Given the description of an element on the screen output the (x, y) to click on. 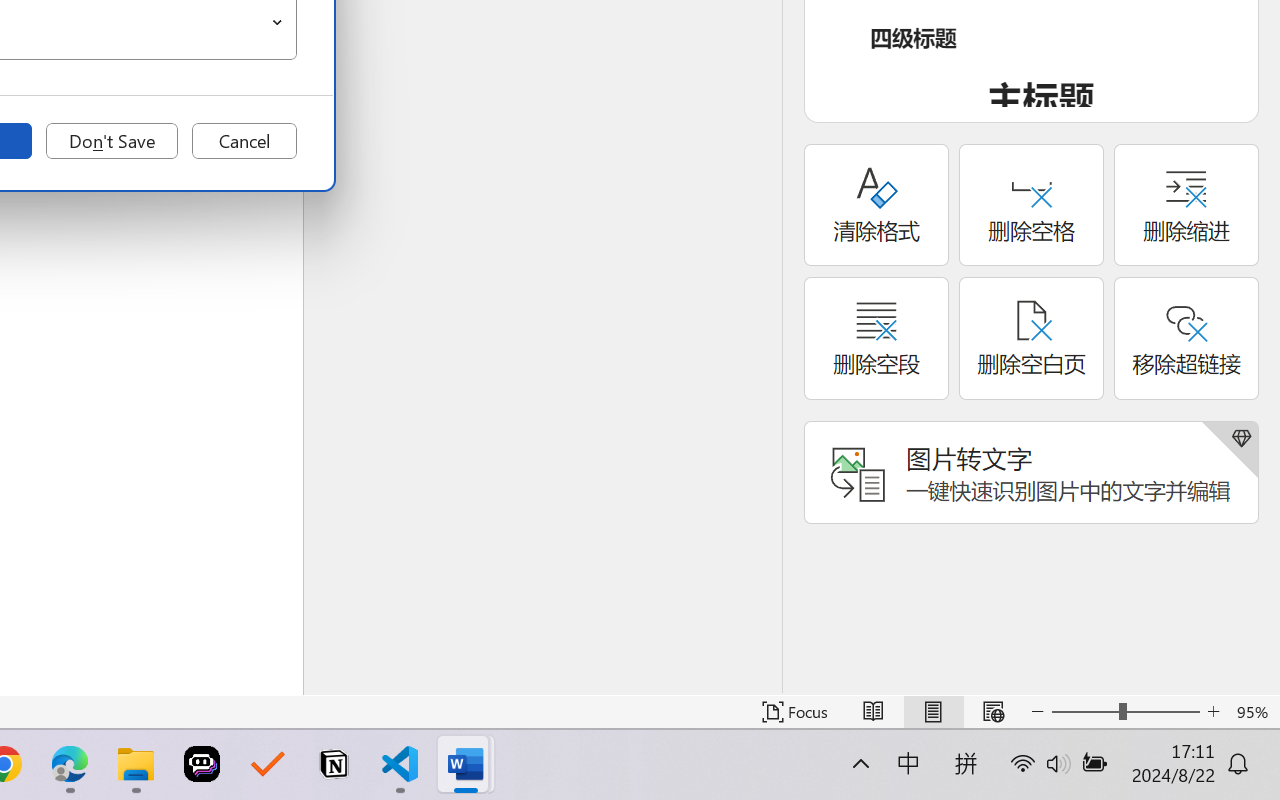
Cancel (244, 141)
